Given the description of an element on the screen output the (x, y) to click on. 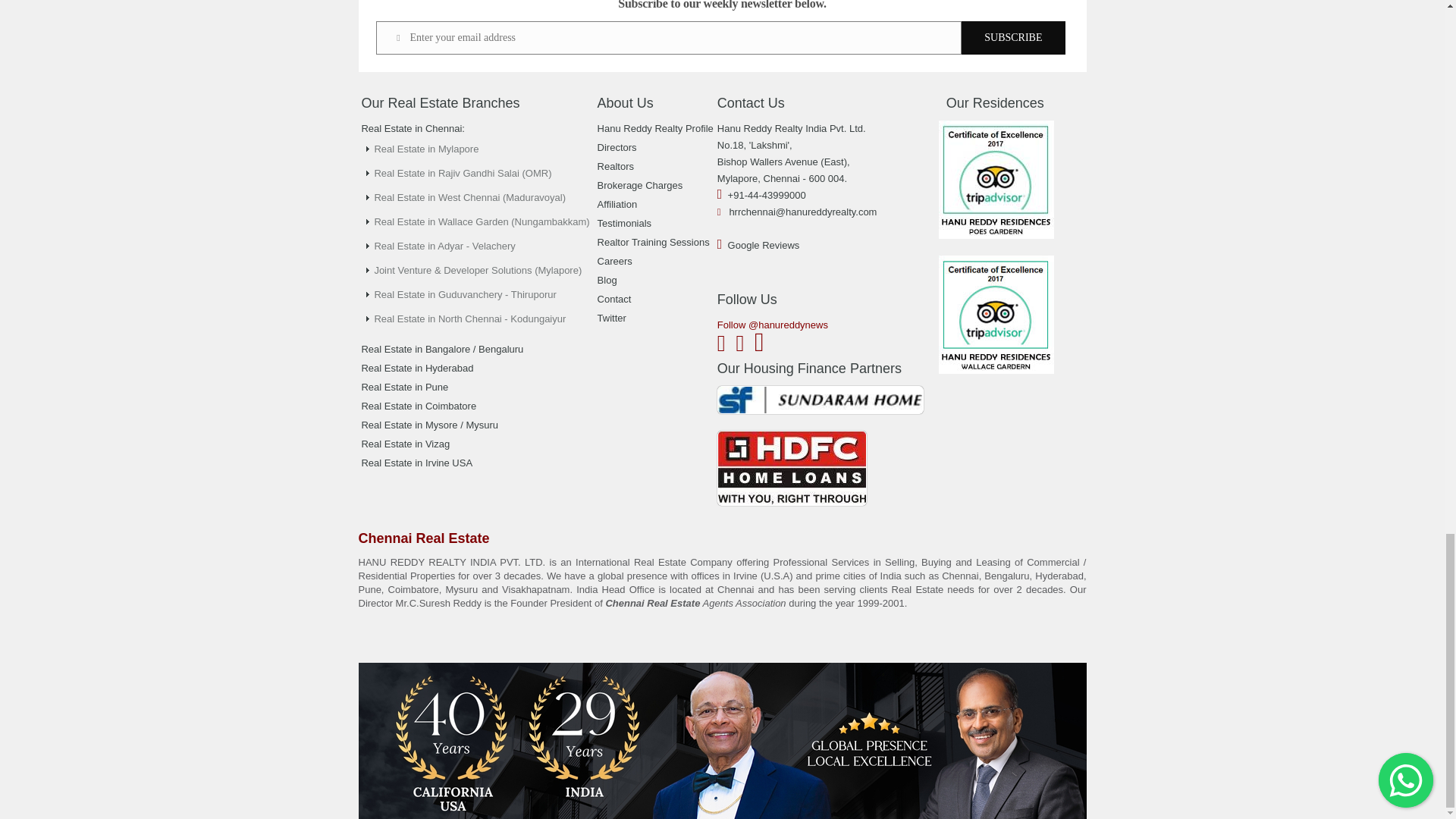
Real Estate Office in Hyderabad (417, 367)
Real Estate Office in Pune (404, 387)
Real Estate Office in Bengaluru (441, 348)
Real Estate Office in Adyar-Velachery (444, 245)
Real Estate Office in Mysuru (429, 424)
Real Estate Office in Guduvanchery - Thiruporur (465, 294)
Real Estate Office in Coimbatore (418, 405)
Real Estate Office in North Chennai - Kodungaiyur (470, 318)
Real Estate Office in Mylapore (426, 148)
